Given the description of an element on the screen output the (x, y) to click on. 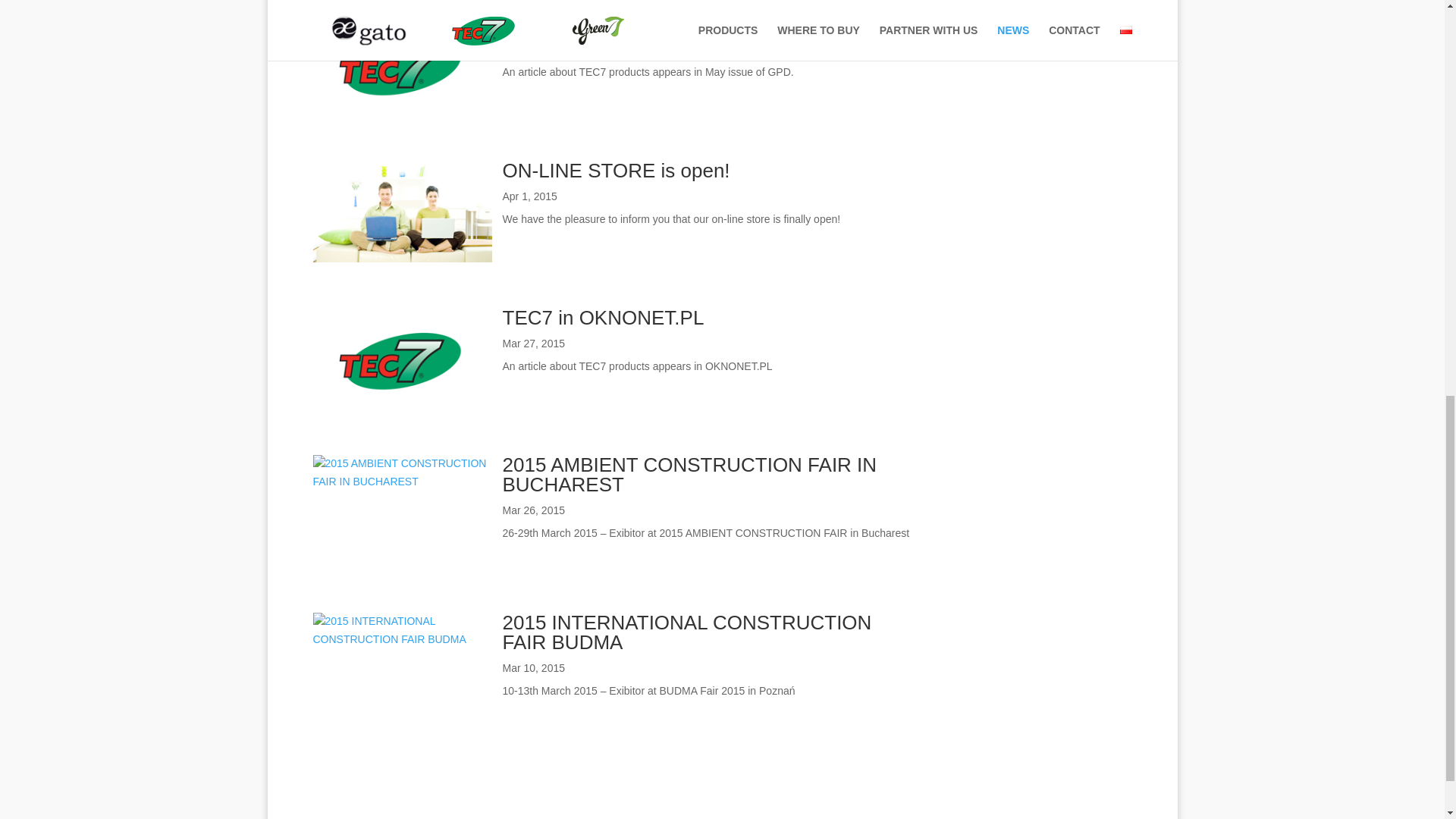
2015 INTERNATIONAL CONSTRUCTION FAIR BUDMA (686, 631)
TEC7 in OKNONET.PL (602, 317)
2015 AMBIENT CONSTRUCTION FAIR IN BUCHAREST (689, 474)
ON-LINE STORE is open! (615, 169)
TEC7 in GPD (561, 23)
